Given the description of an element on the screen output the (x, y) to click on. 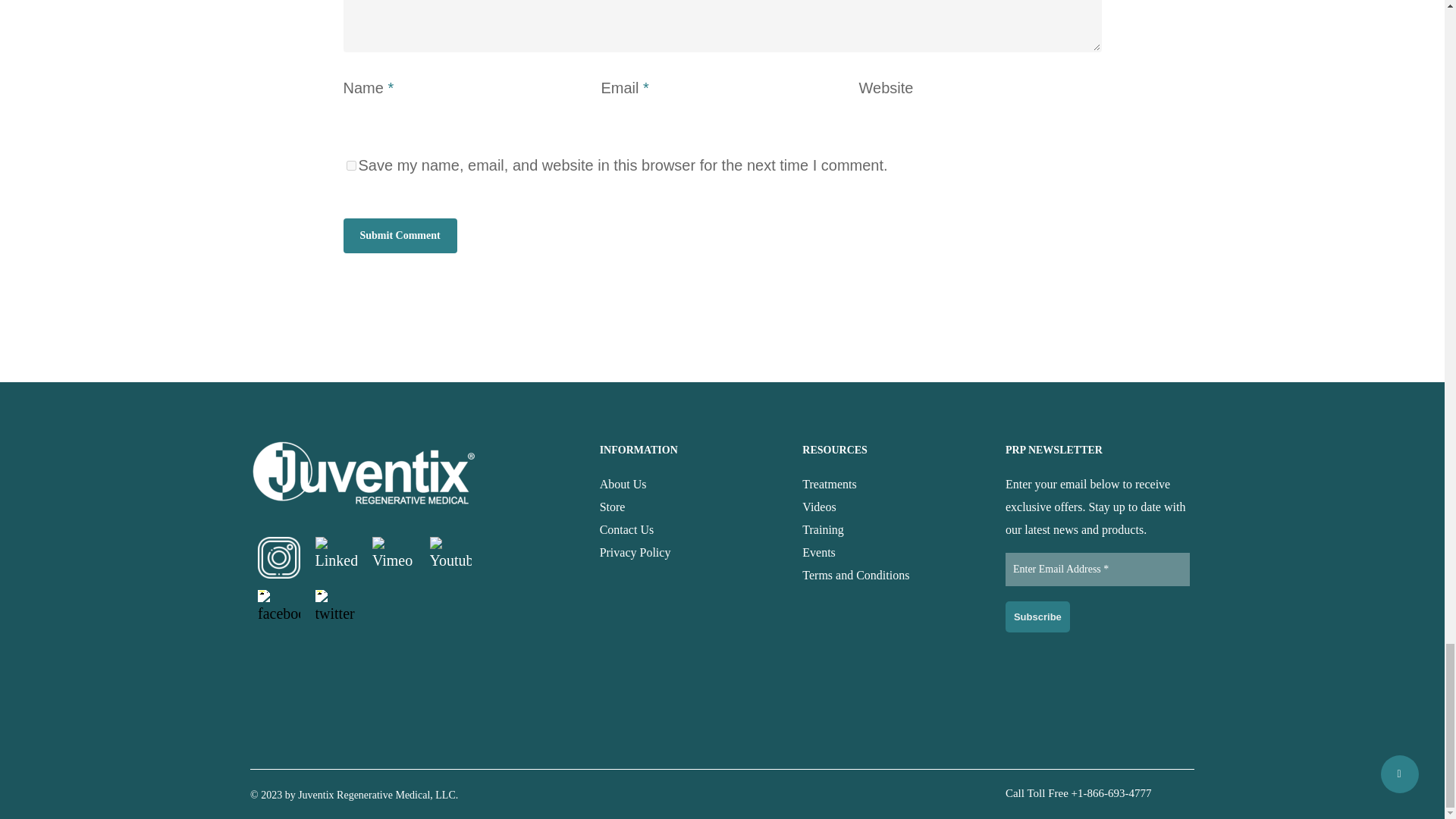
Enter Email Address (1097, 569)
yes (350, 165)
Subscribe (1038, 617)
Submit Comment (399, 235)
